Given the description of an element on the screen output the (x, y) to click on. 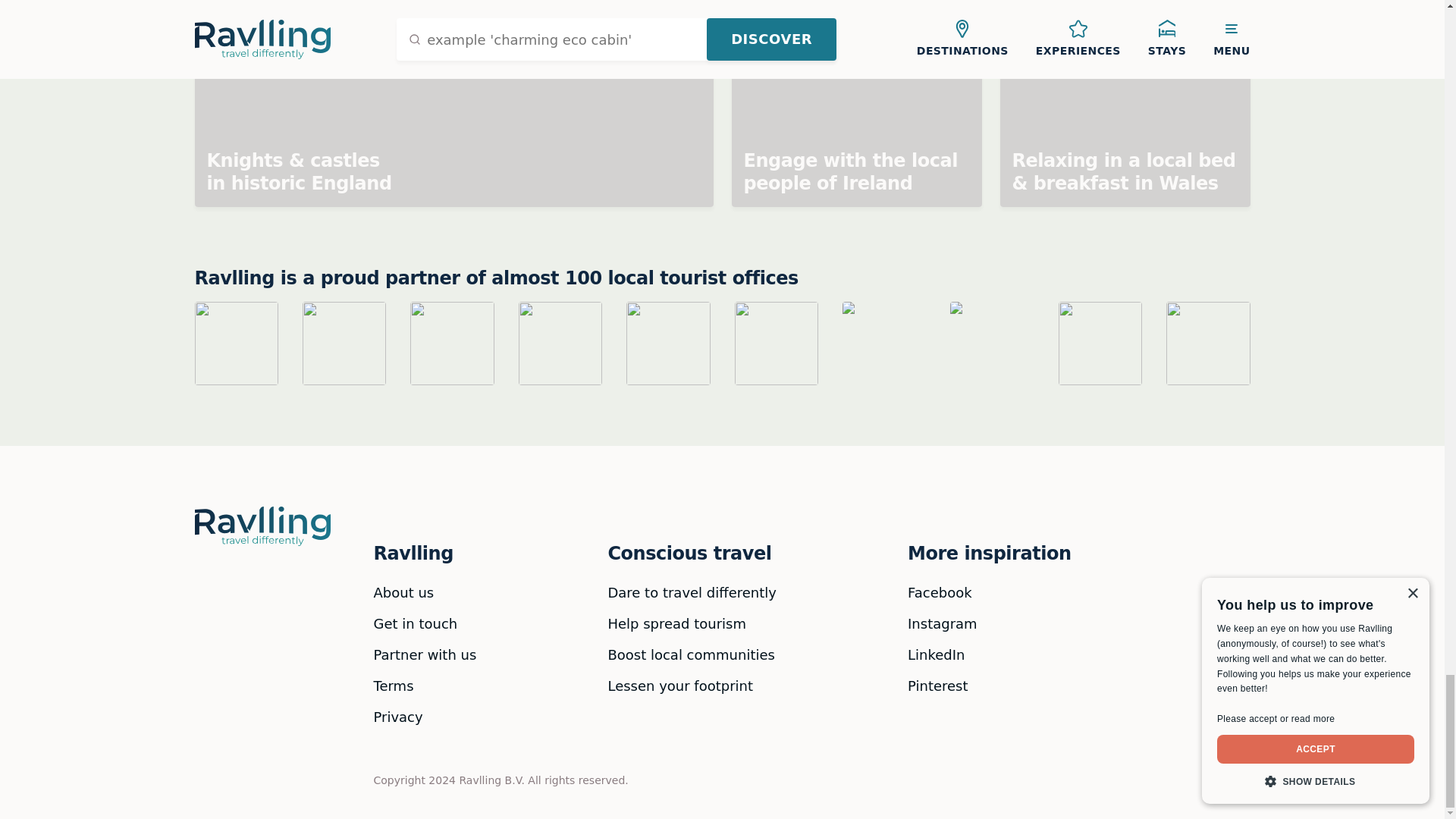
Engage with the local people of Ireland (855, 103)
